Given the description of an element on the screen output the (x, y) to click on. 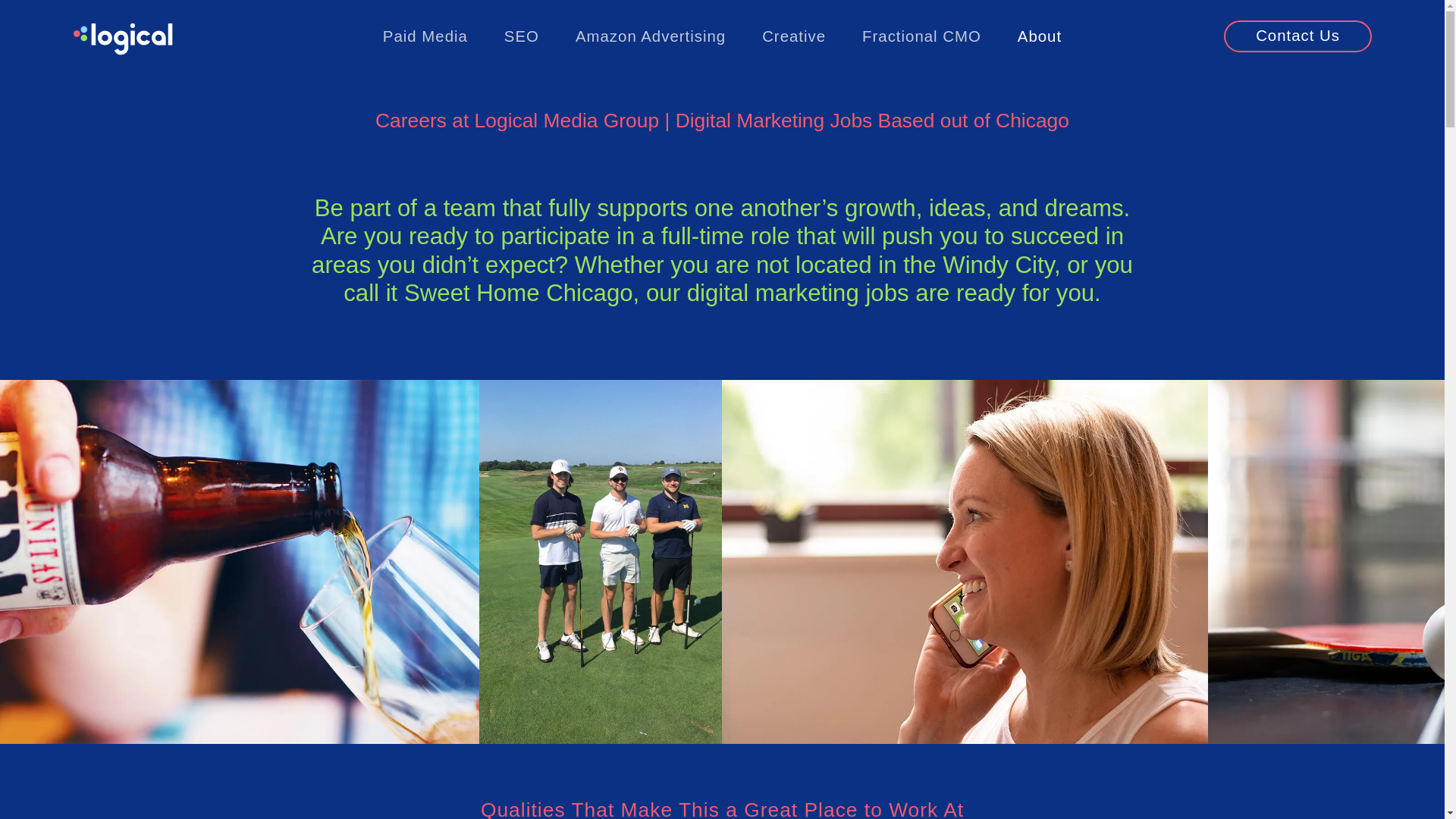
Contact Us (1297, 36)
About (1039, 36)
Fractional CMO (921, 36)
Paid Media (425, 36)
SEO (521, 36)
Creative (794, 36)
Amazon Advertising (650, 36)
